Given the description of an element on the screen output the (x, y) to click on. 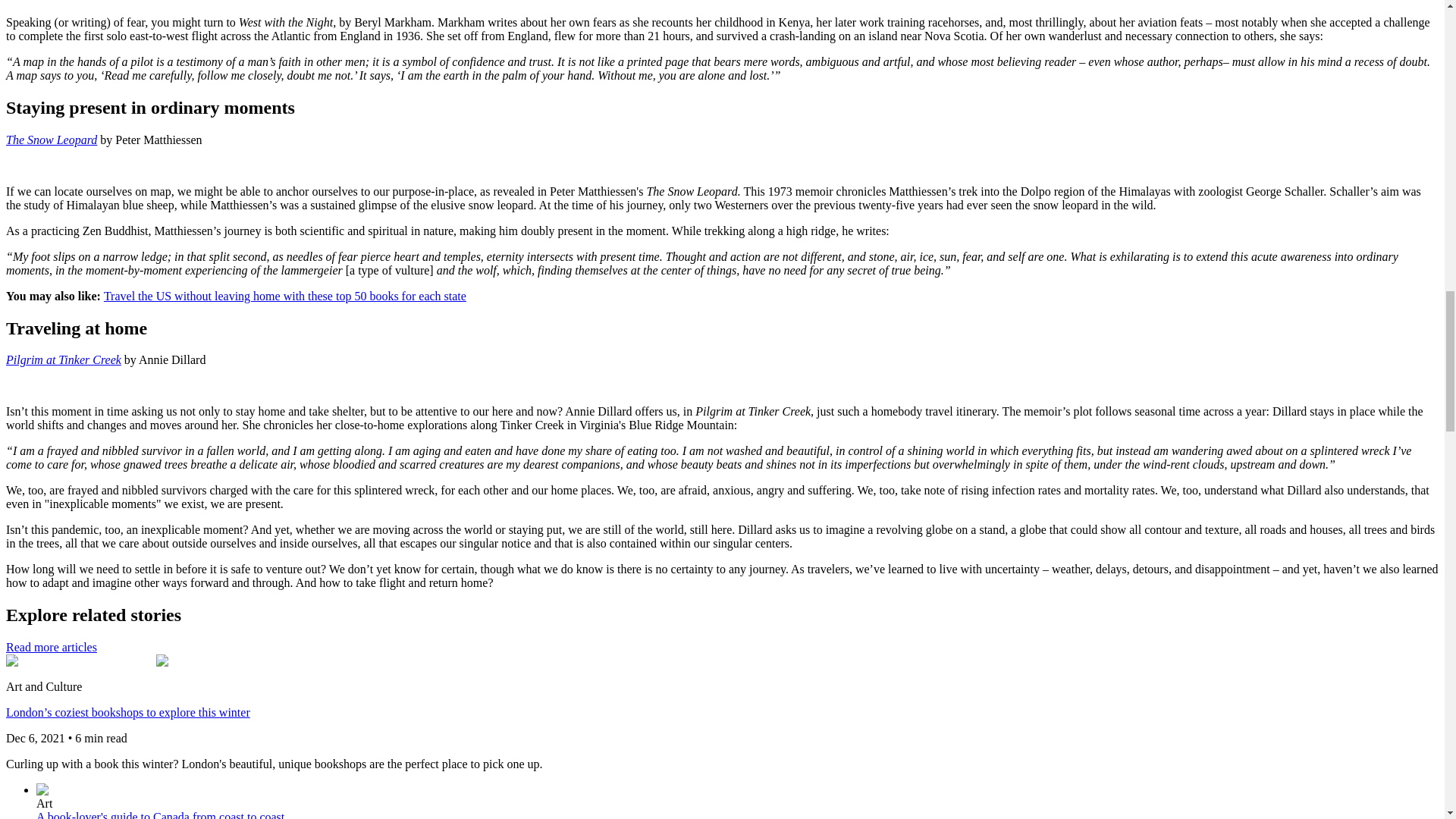
Pilgrim at Tinker Creek (62, 359)
Read more articles (51, 646)
The Snow Leopard (51, 139)
A book-lover's guide to Canada from coast to coast (159, 814)
